Given the description of an element on the screen output the (x, y) to click on. 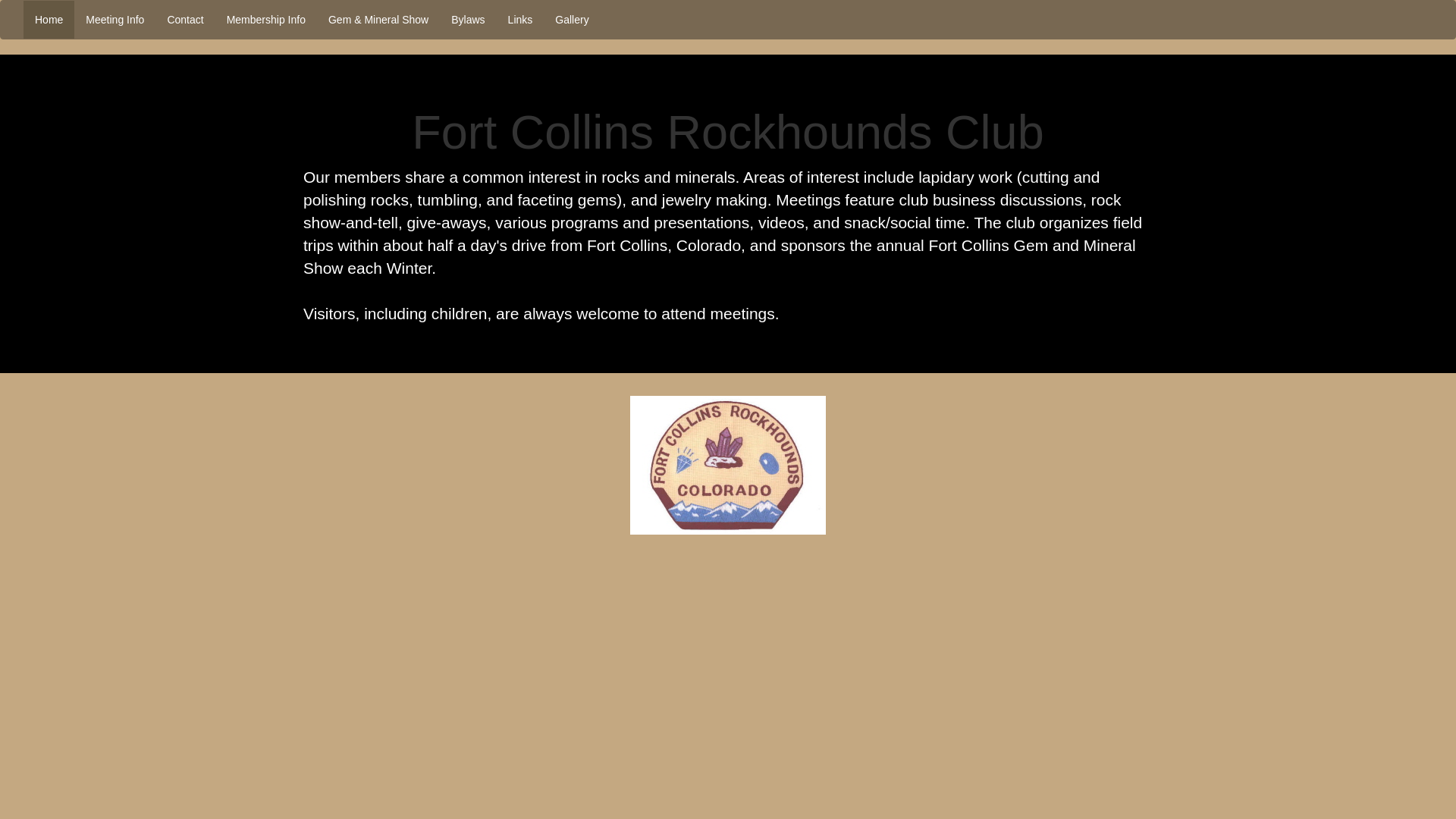
Contact (184, 19)
Gallery (571, 19)
Bylaws (467, 19)
Membership Info (266, 19)
Meeting Info (114, 19)
Links (520, 19)
